Given the description of an element on the screen output the (x, y) to click on. 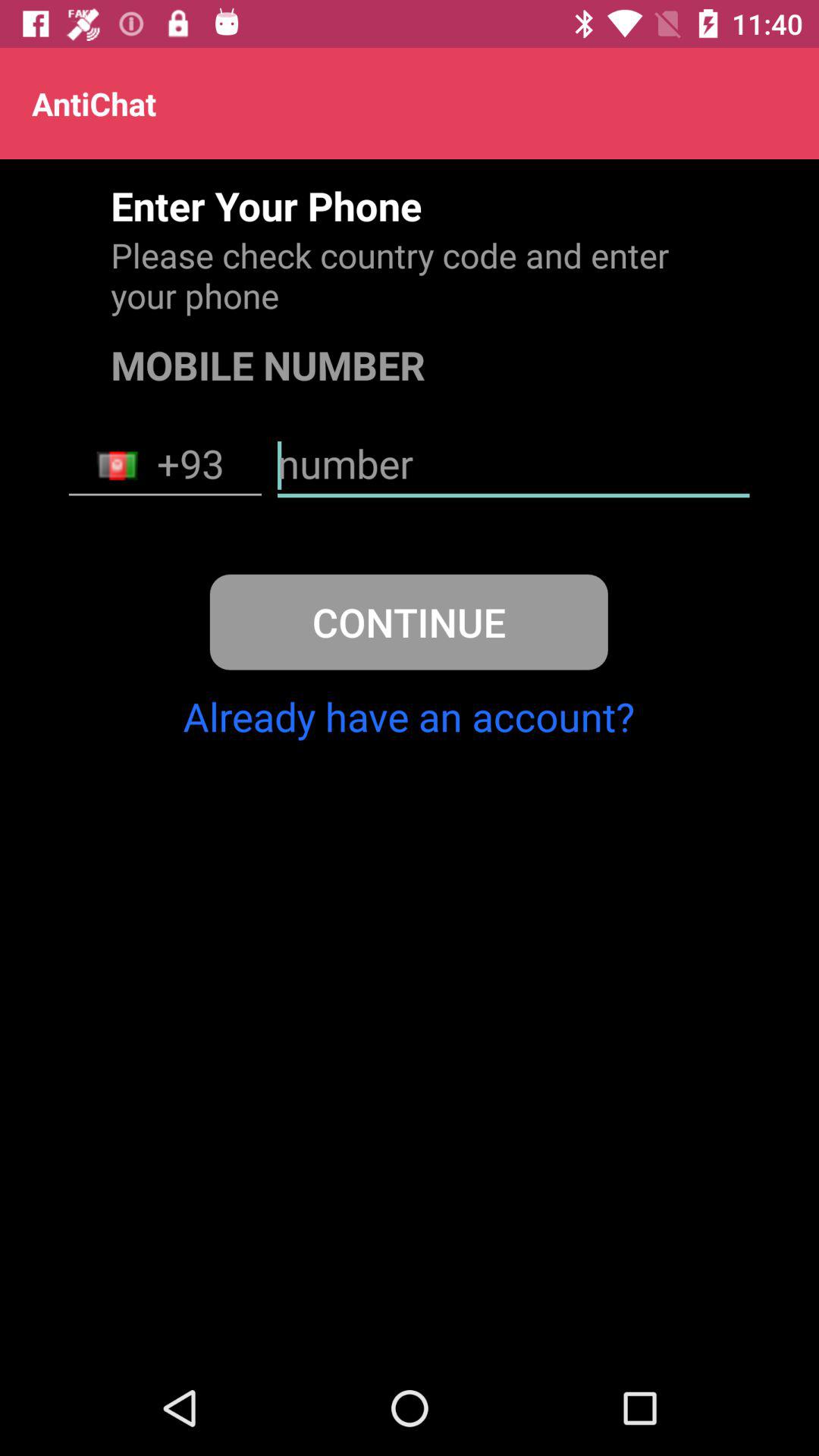
click continue icon (408, 621)
